Given the description of an element on the screen output the (x, y) to click on. 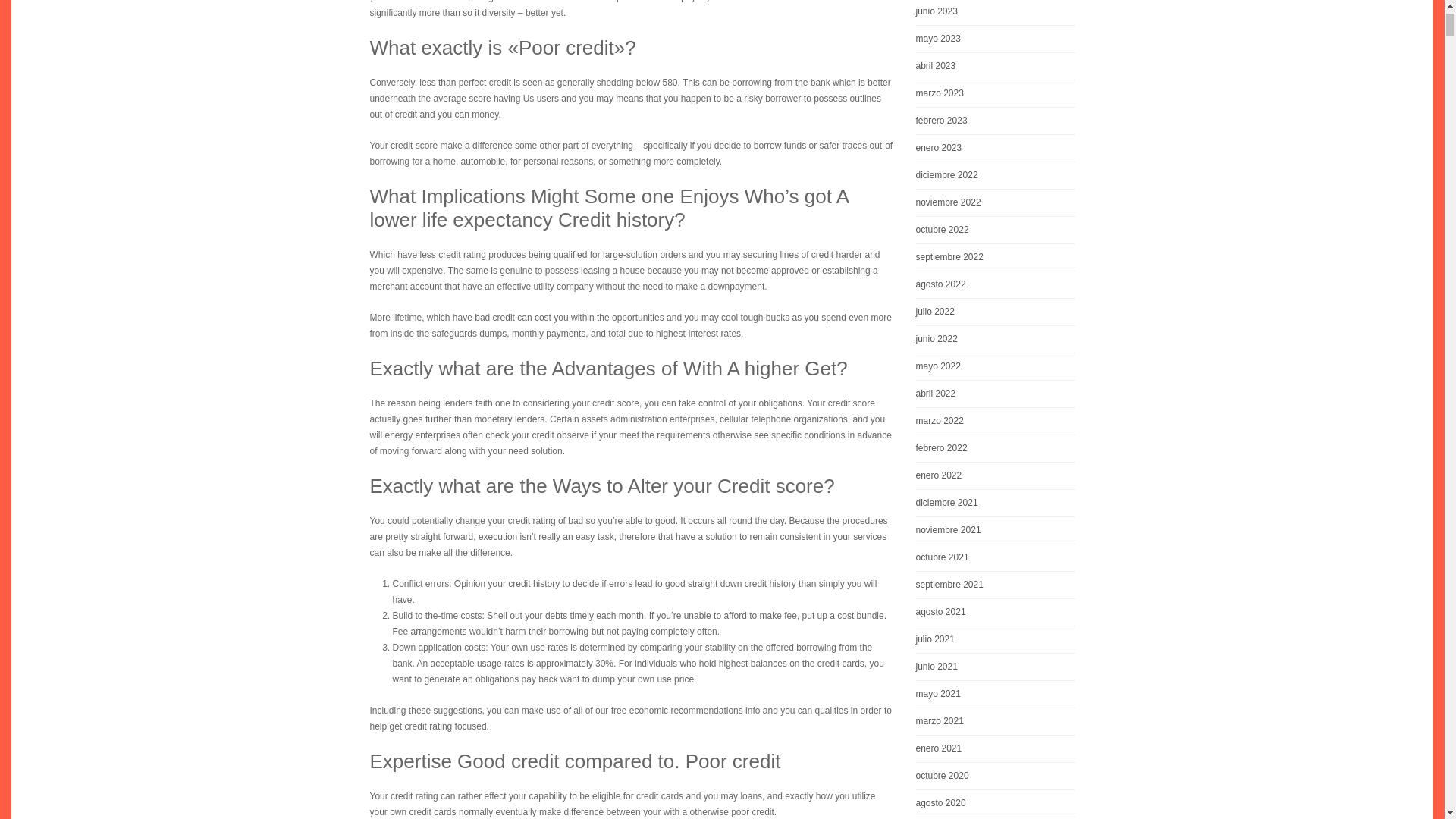
julio 2022 (995, 311)
febrero 2023 (995, 120)
abril 2022 (995, 393)
noviembre 2022 (995, 202)
mayo 2023 (995, 38)
abril 2023 (995, 66)
octubre 2022 (995, 230)
marzo 2022 (995, 420)
marzo 2023 (995, 93)
agosto 2022 (995, 284)
junio 2022 (995, 338)
septiembre 2022 (995, 257)
enero 2023 (995, 148)
febrero 2022 (995, 447)
junio 2023 (995, 12)
